Given the description of an element on the screen output the (x, y) to click on. 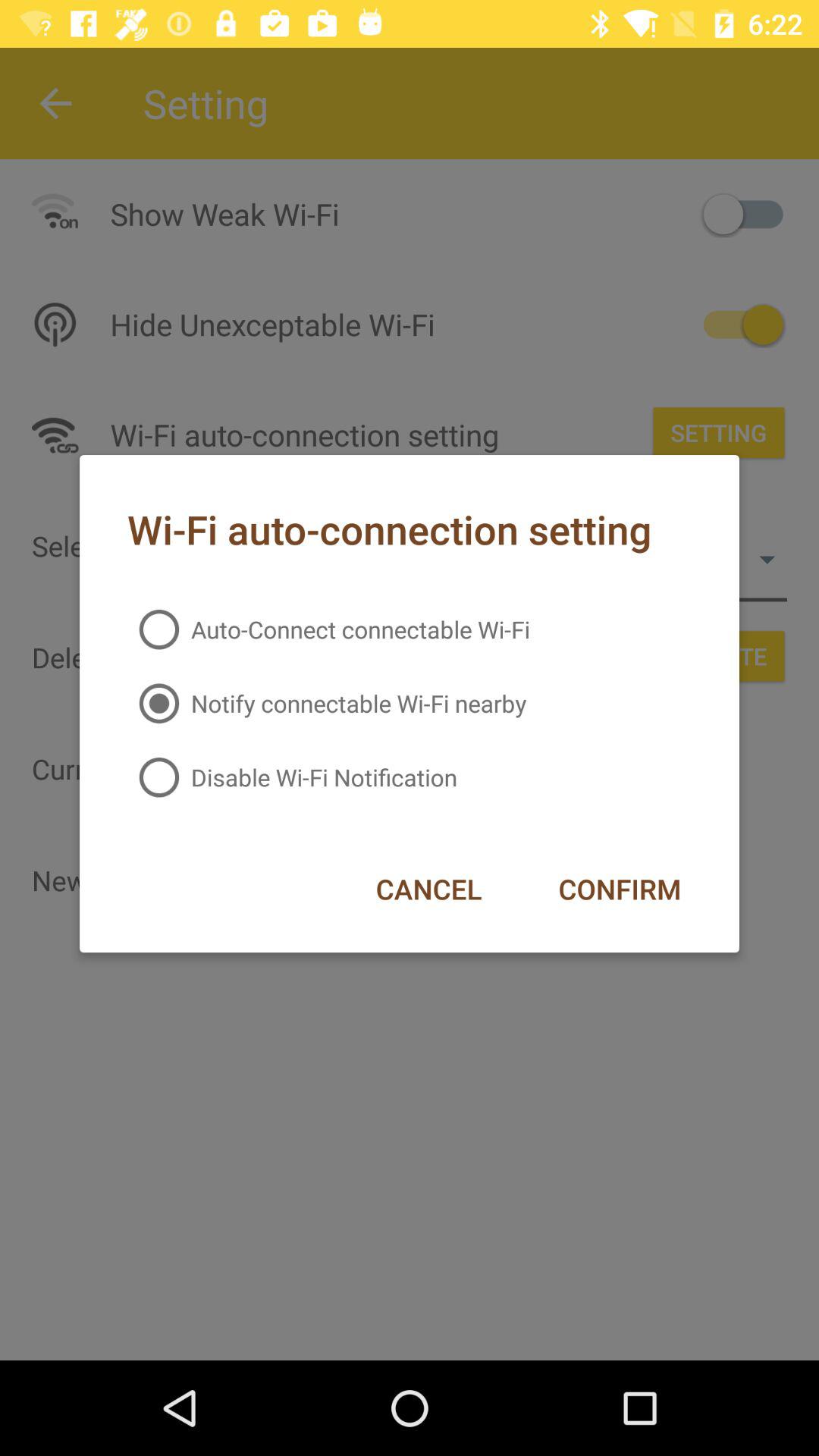
launch item to the right of the cancel item (619, 888)
